Given the description of an element on the screen output the (x, y) to click on. 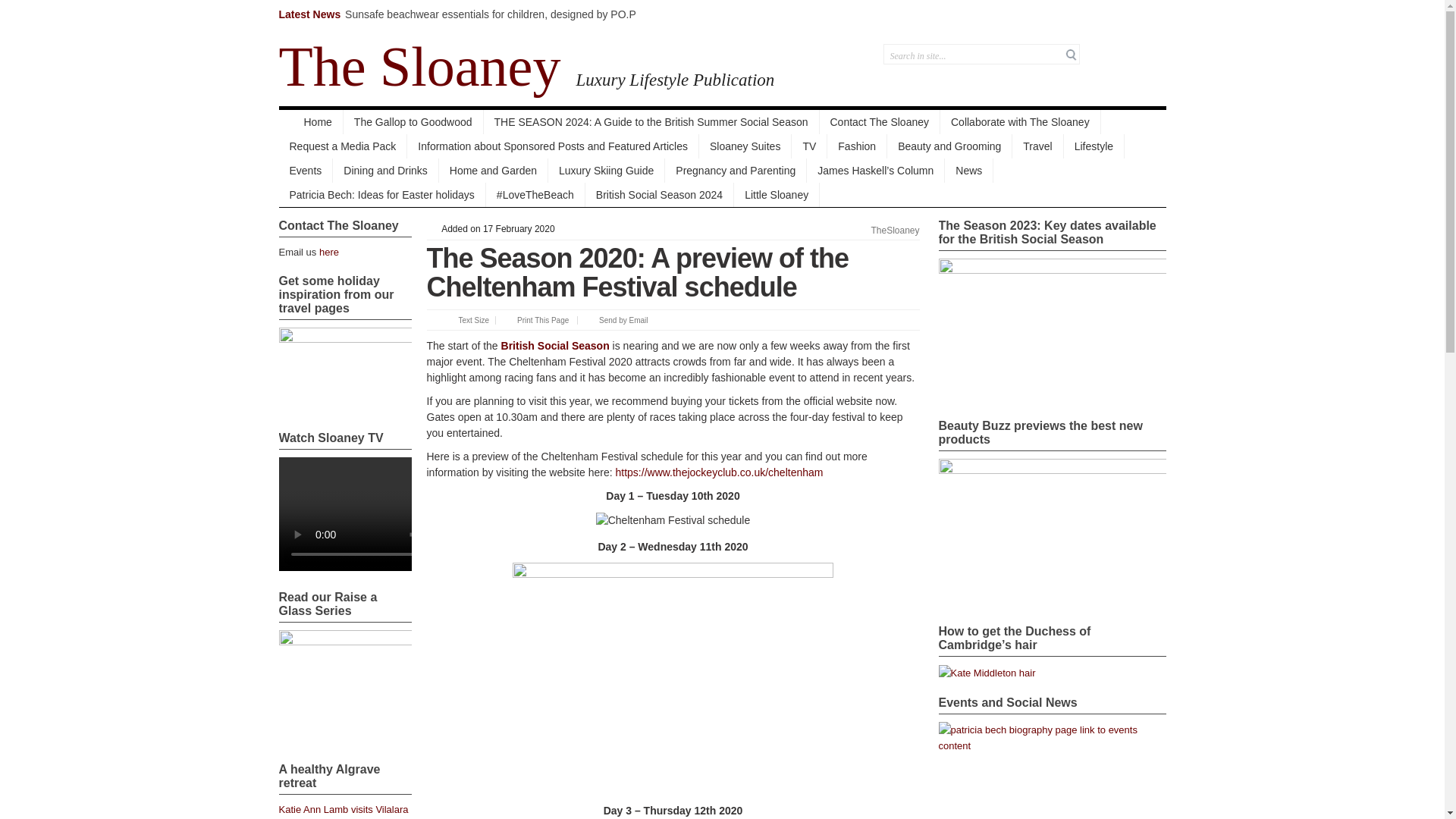
Pregnancy and Parenting (735, 170)
Luxury Lifestyle Publication (419, 66)
Luxury Lifestyle Publication (667, 63)
Connect on Facebook (1112, 52)
Twitter (1093, 52)
Travel (1036, 146)
Contact The Sloaney (879, 121)
Luxury Skiing Guide (606, 170)
Lifestyle (1094, 146)
Request a Media Pack (343, 146)
